Given the description of an element on the screen output the (x, y) to click on. 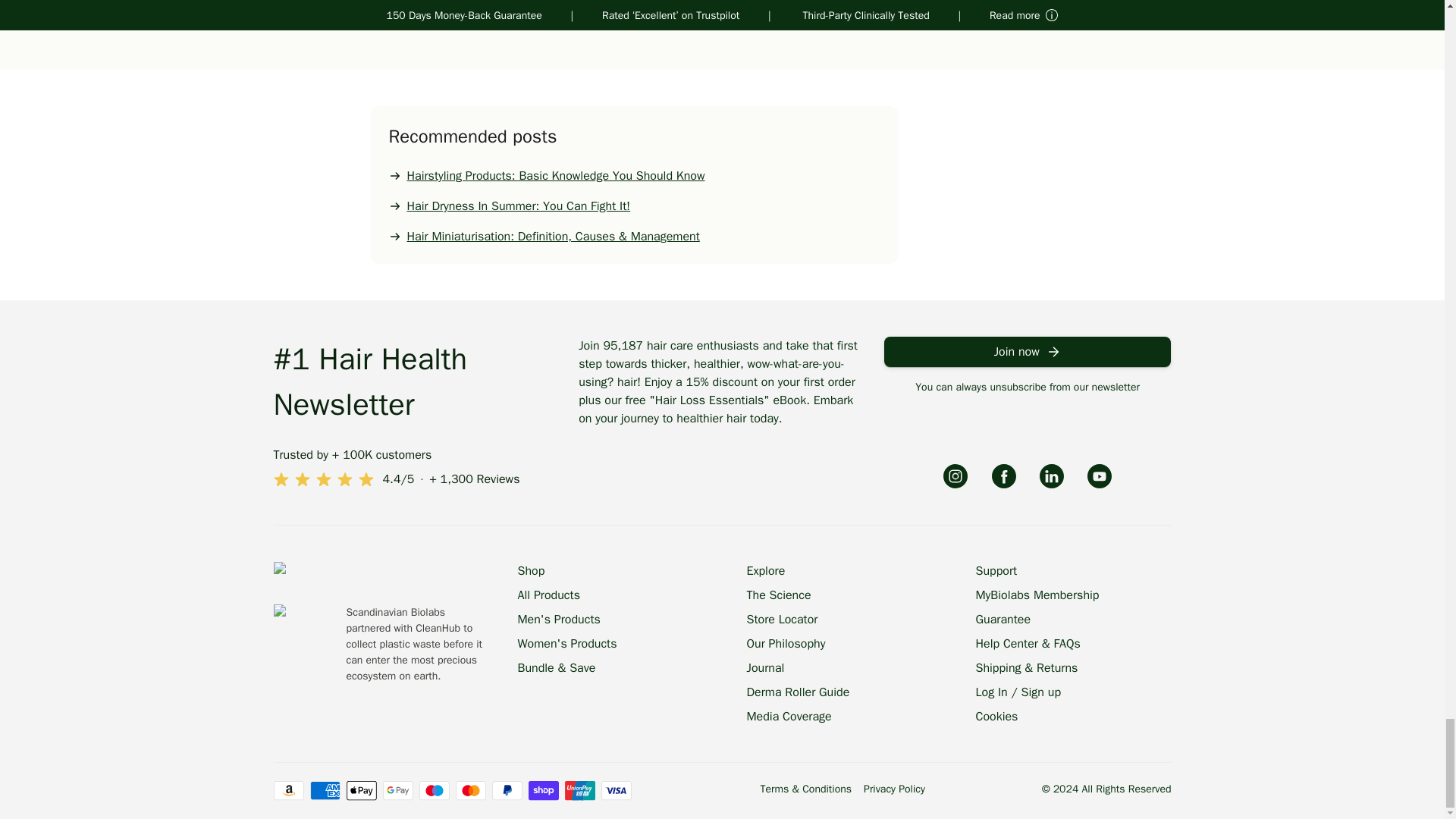
Hair Dryness In Summer: You Can Fight It! (630, 206)
Join now (1027, 351)
Hairstyling Products: Basic Knowledge You Should Know (630, 176)
